Given the description of an element on the screen output the (x, y) to click on. 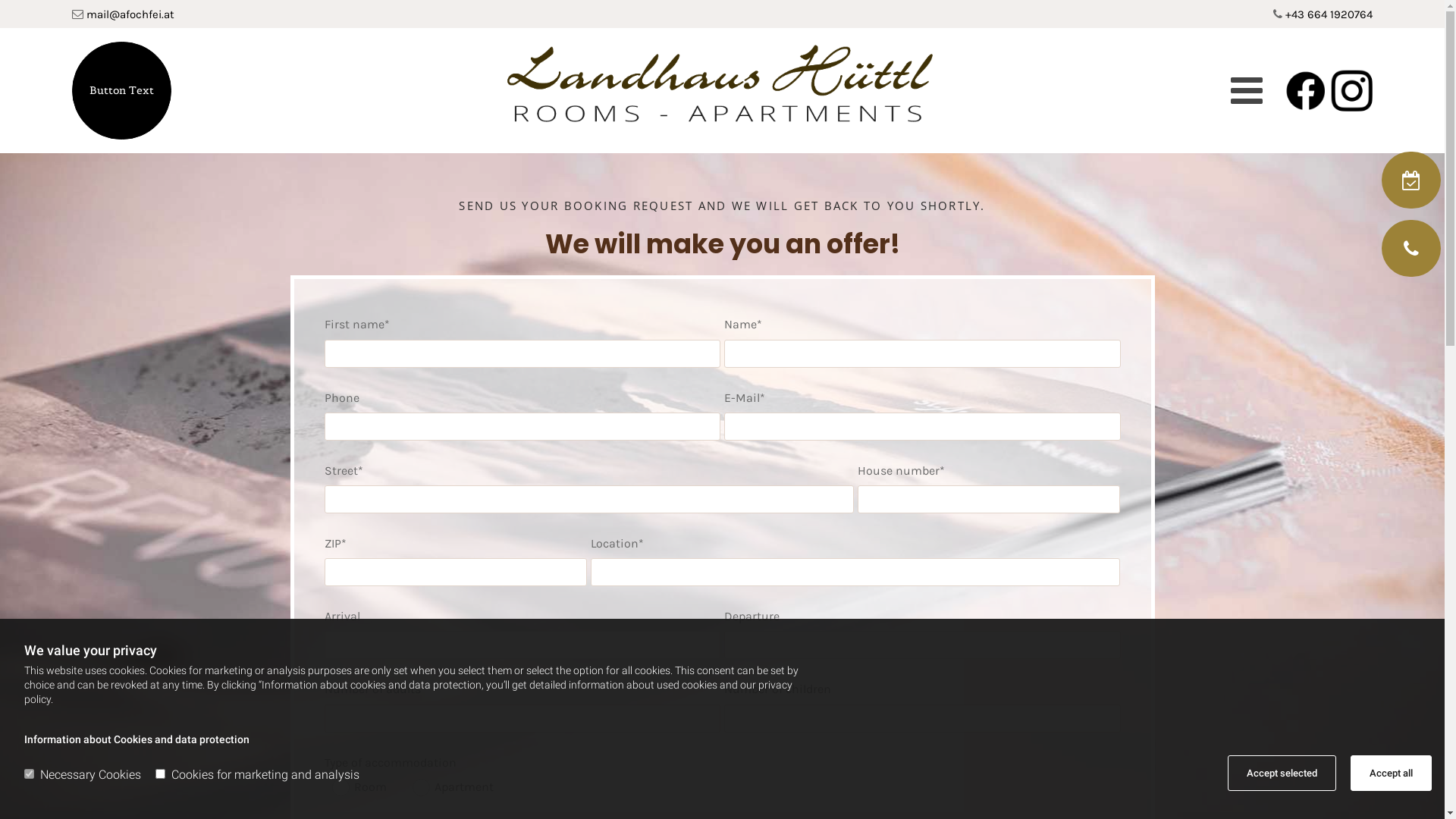
Information about Cookies and data protection Element type: text (136, 739)
Accept selected Element type: text (1281, 772)
Accept all Element type: text (1390, 772)
Button Text Element type: text (121, 90)
mail@afochfei.at Element type: text (130, 14)
+43 664 1920764 Element type: text (1328, 14)
